Given the description of an element on the screen output the (x, y) to click on. 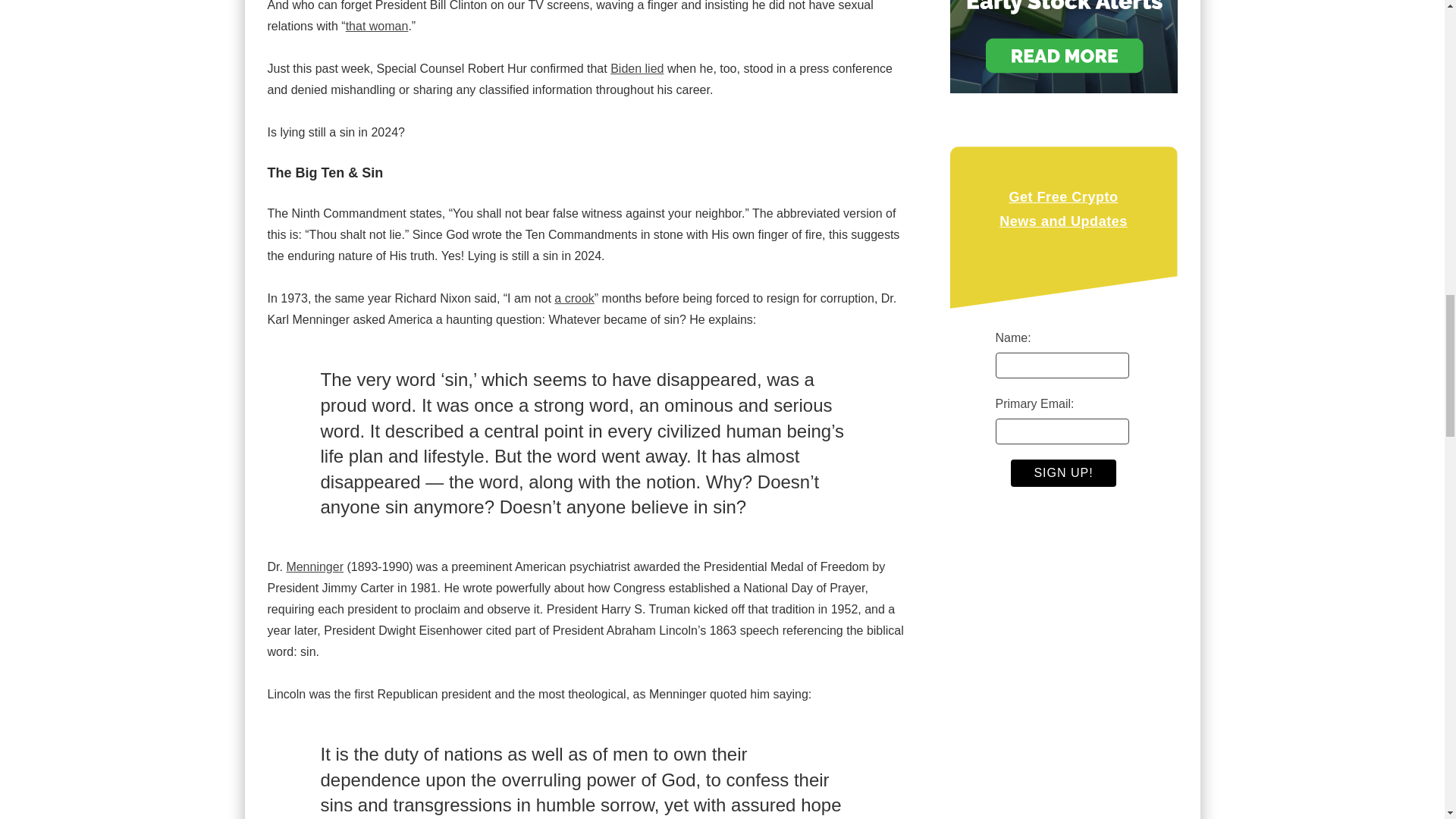
SIGN UP! (1062, 472)
Biden lied (636, 68)
Menninger (314, 566)
Ads by InteractiveOffers (1062, 2)
a crook (574, 297)
that woman (377, 25)
